Given the description of an element on the screen output the (x, y) to click on. 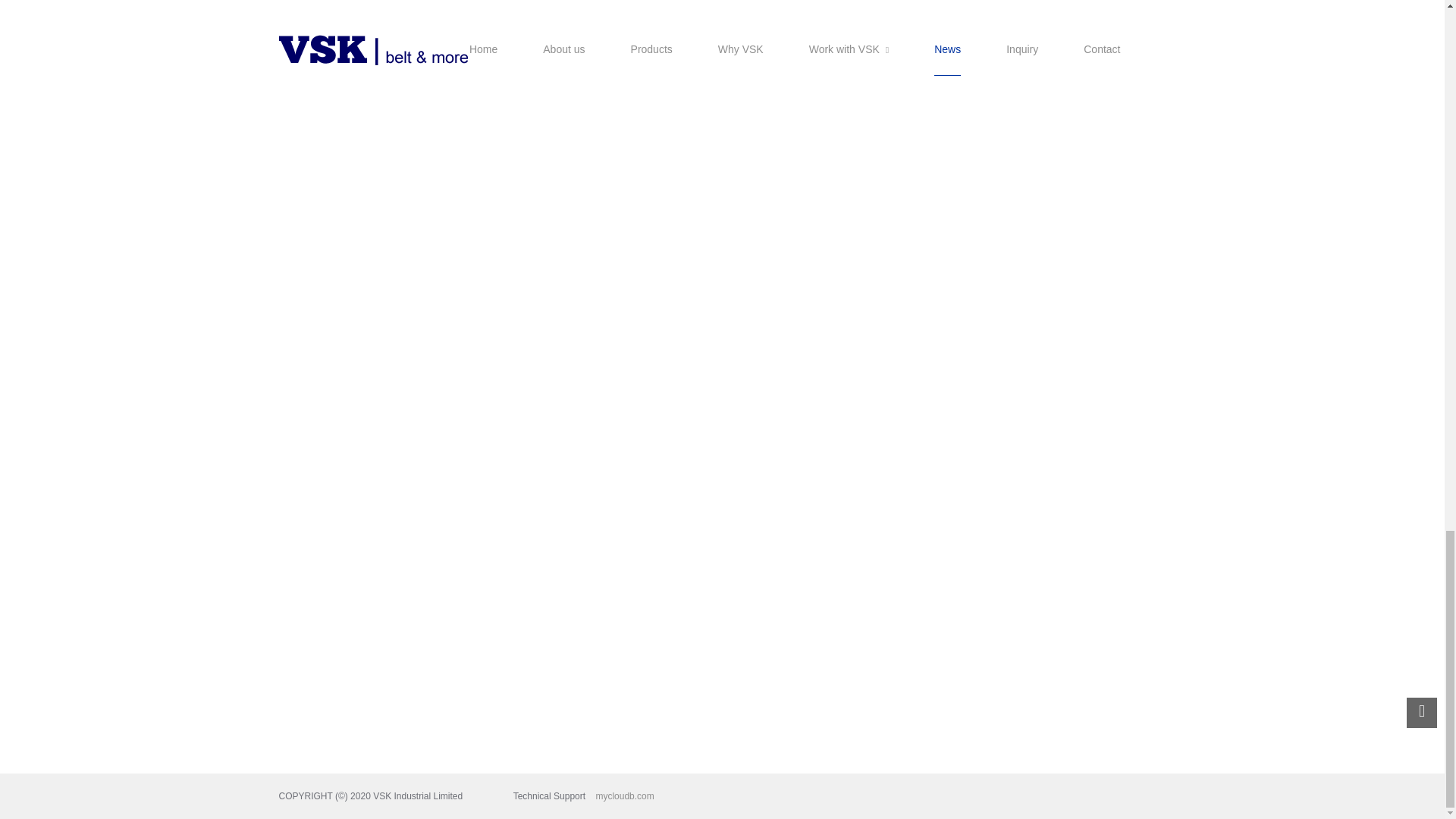
mycloudb.com (614, 795)
mycloudb.com (614, 795)
